Given the description of an element on the screen output the (x, y) to click on. 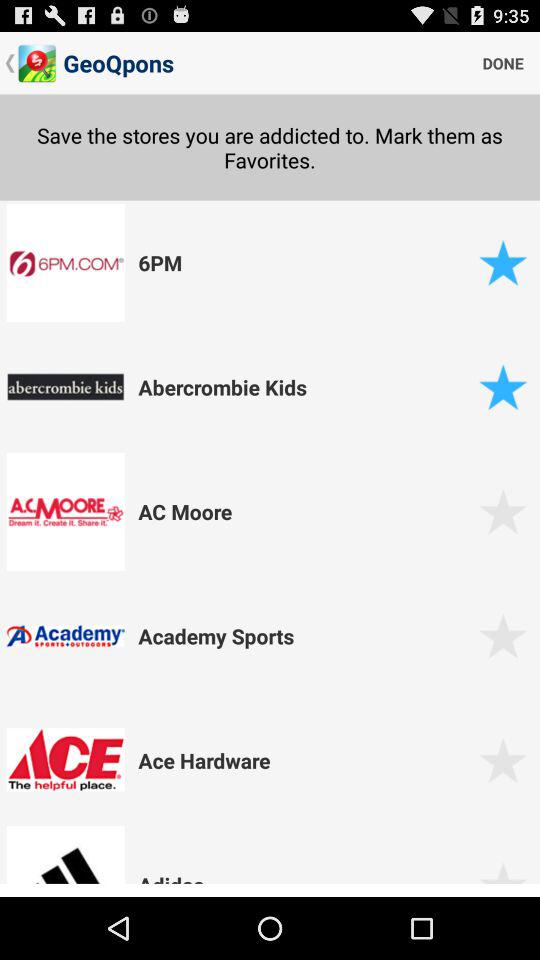
add to favourite option (502, 635)
